Given the description of an element on the screen output the (x, y) to click on. 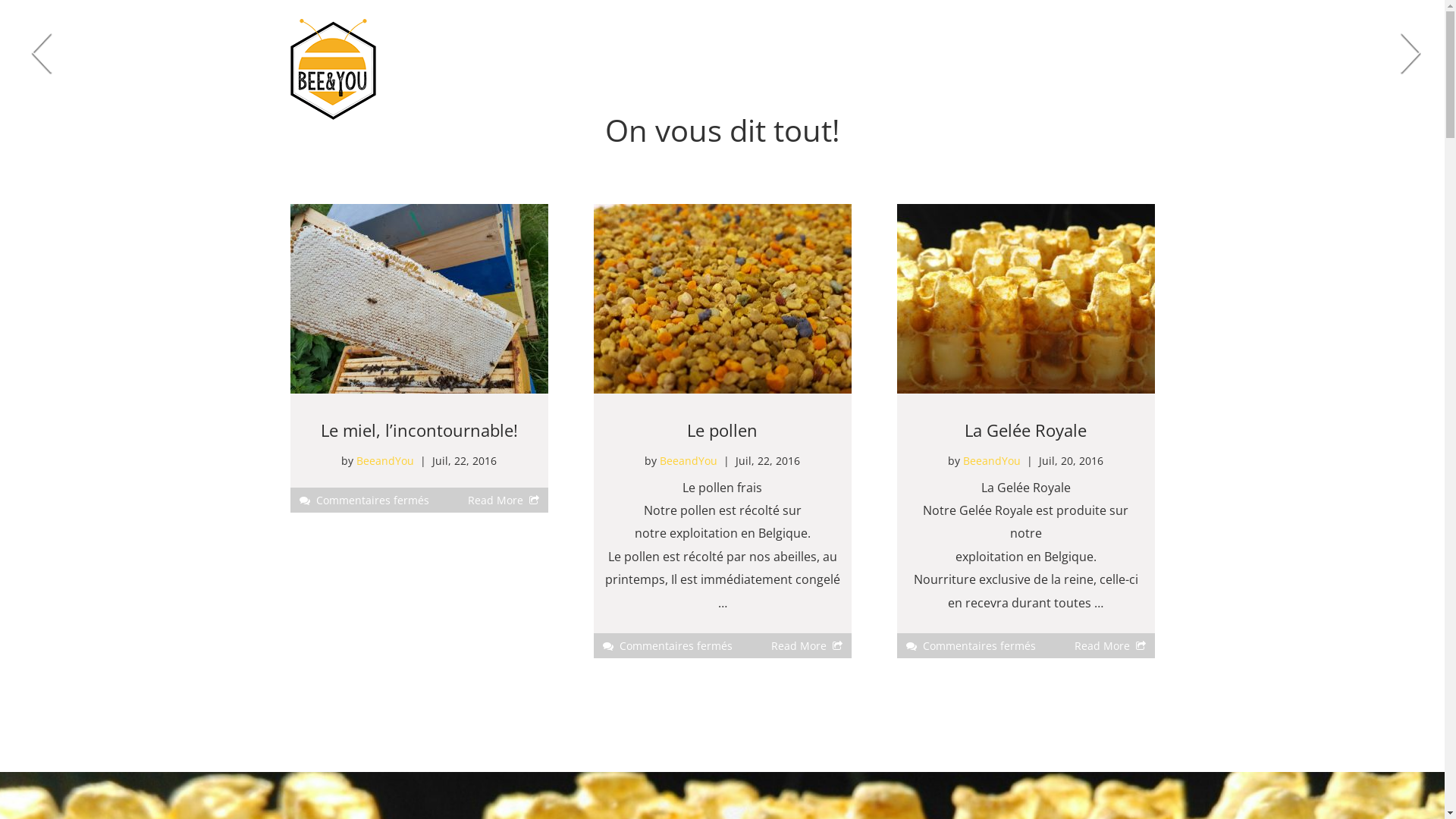
Previous Element type: text (41, 53)
BeeandYou Element type: text (385, 460)
Read More Element type: text (494, 499)
Accueil Element type: text (634, 52)
Le pollen Element type: text (722, 429)
La boutique Element type: text (874, 52)
Qui sommes-nous? Element type: text (746, 52)
Read More Element type: text (1101, 645)
BeeandYou Element type: text (991, 460)
Contactez-nous! Element type: text (991, 52)
BeeandYou Element type: text (688, 460)
Read More Element type: text (797, 645)
Next Element type: text (1410, 53)
Connexion Element type: text (1105, 52)
